Given the description of an element on the screen output the (x, y) to click on. 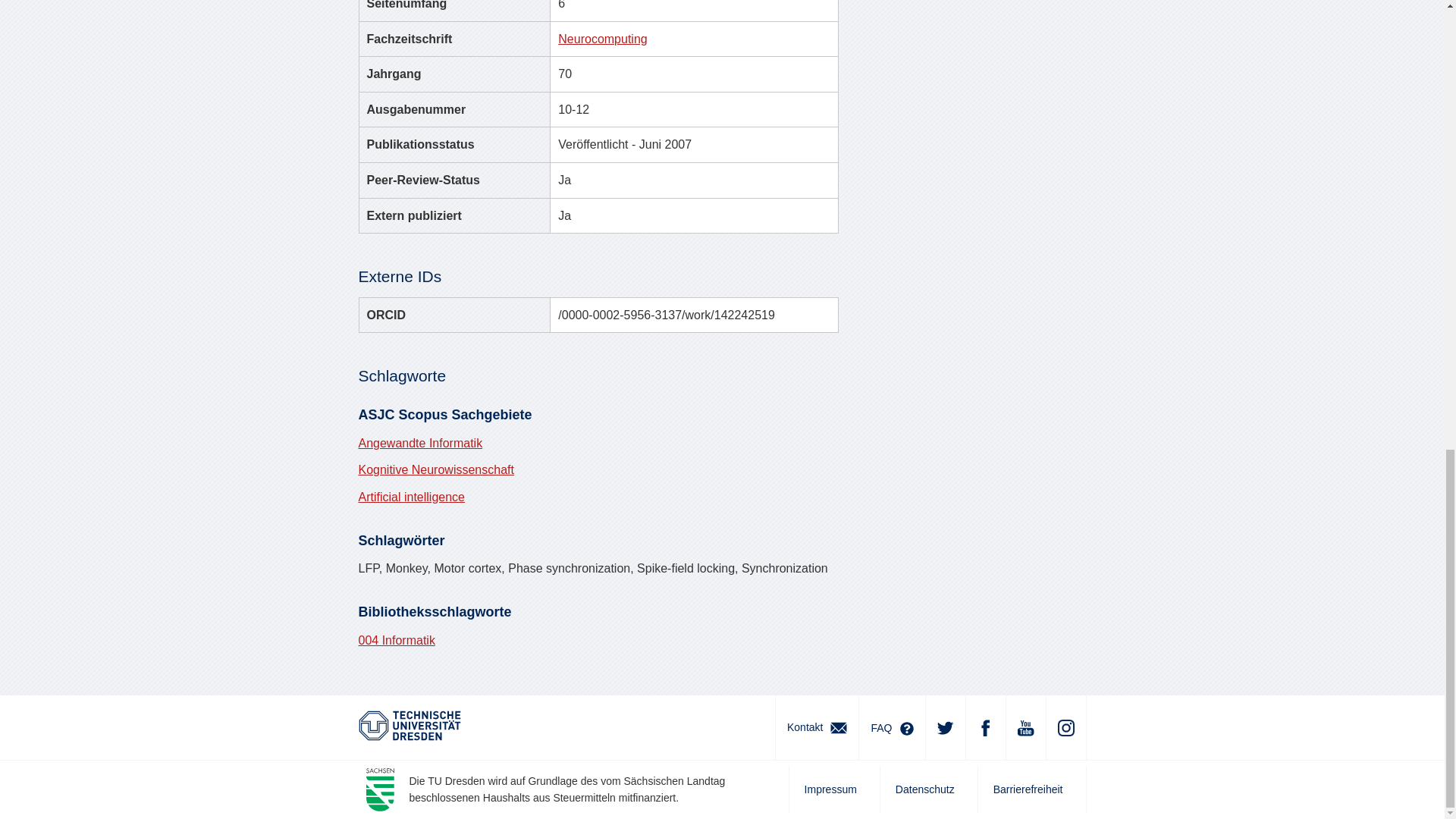
Artificial intelligence (411, 496)
Barrierefreiheit (1031, 789)
Kontakt (816, 727)
Angewandte Informatik (419, 442)
FAQ (891, 727)
Kontakt (816, 727)
Datenschutz (927, 789)
004 Informatik (395, 640)
, Externer Link (409, 725)
Impressum (834, 789)
Neurocomputing (601, 38)
Kognitive Neurowissenschaft (435, 469)
